Given the description of an element on the screen output the (x, y) to click on. 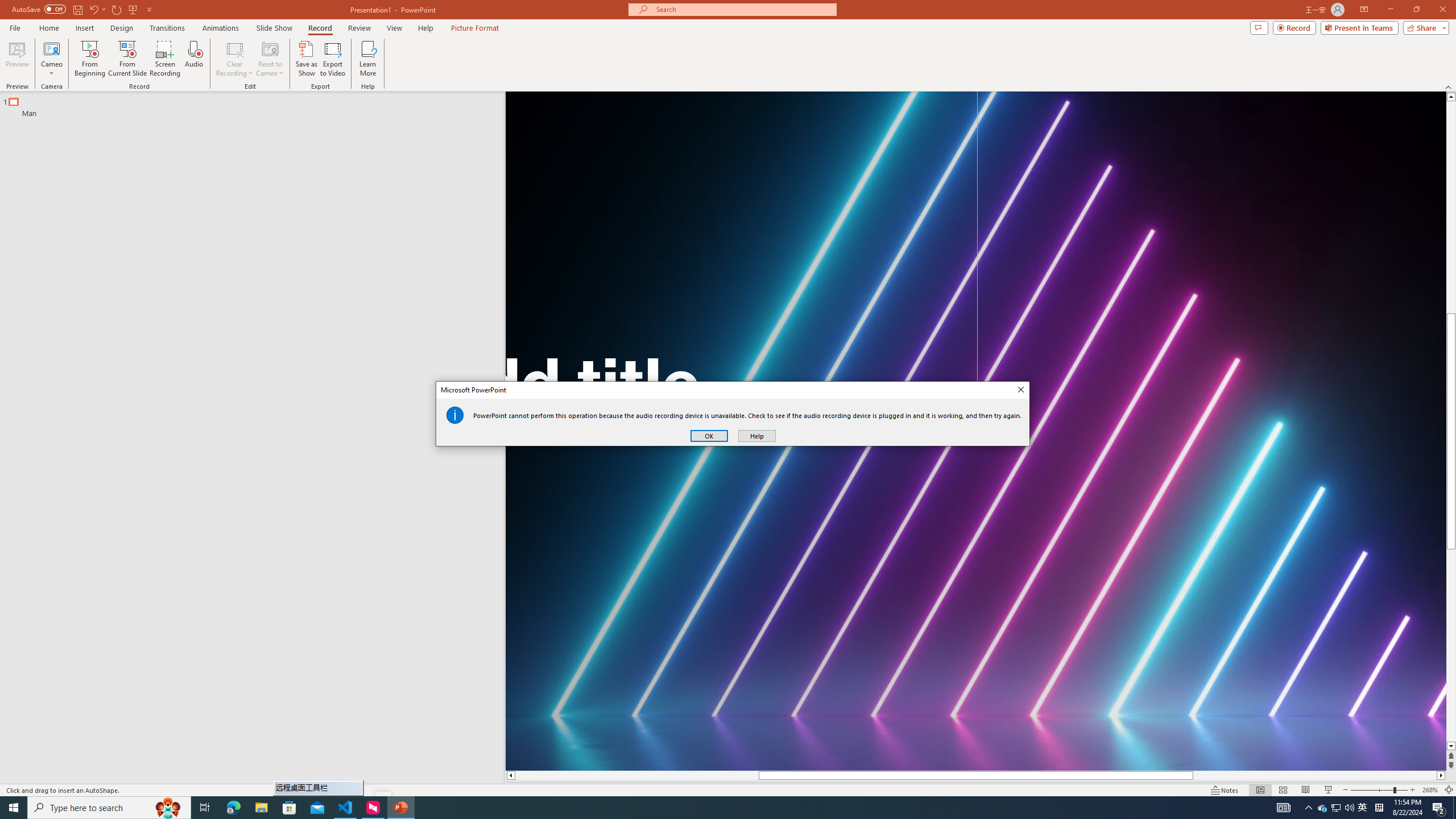
Zoom 268% (1430, 790)
